Given the description of an element on the screen output the (x, y) to click on. 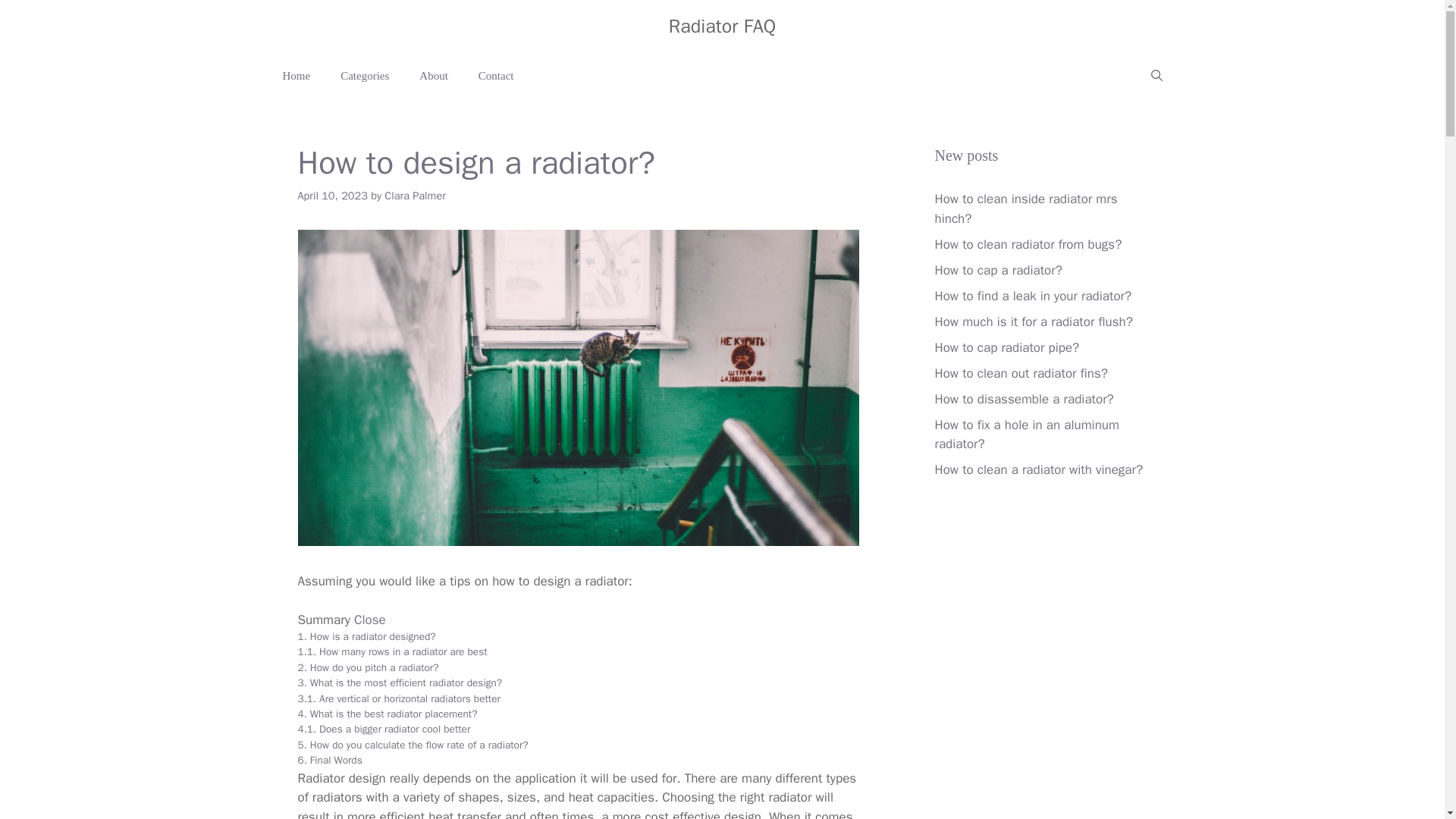
2. How do you pitch a radiator? (367, 667)
5. How do you calculate the flow rate of a radiator? (412, 744)
Home (295, 75)
1.1. How many rows in a radiator are best (391, 651)
3.1. Are vertical or horizontal radiators better (398, 698)
4.1. Does a bigger radiator cool better (383, 728)
Radiator FAQ (722, 25)
Close (369, 619)
6. Final Words (329, 759)
